Given the description of an element on the screen output the (x, y) to click on. 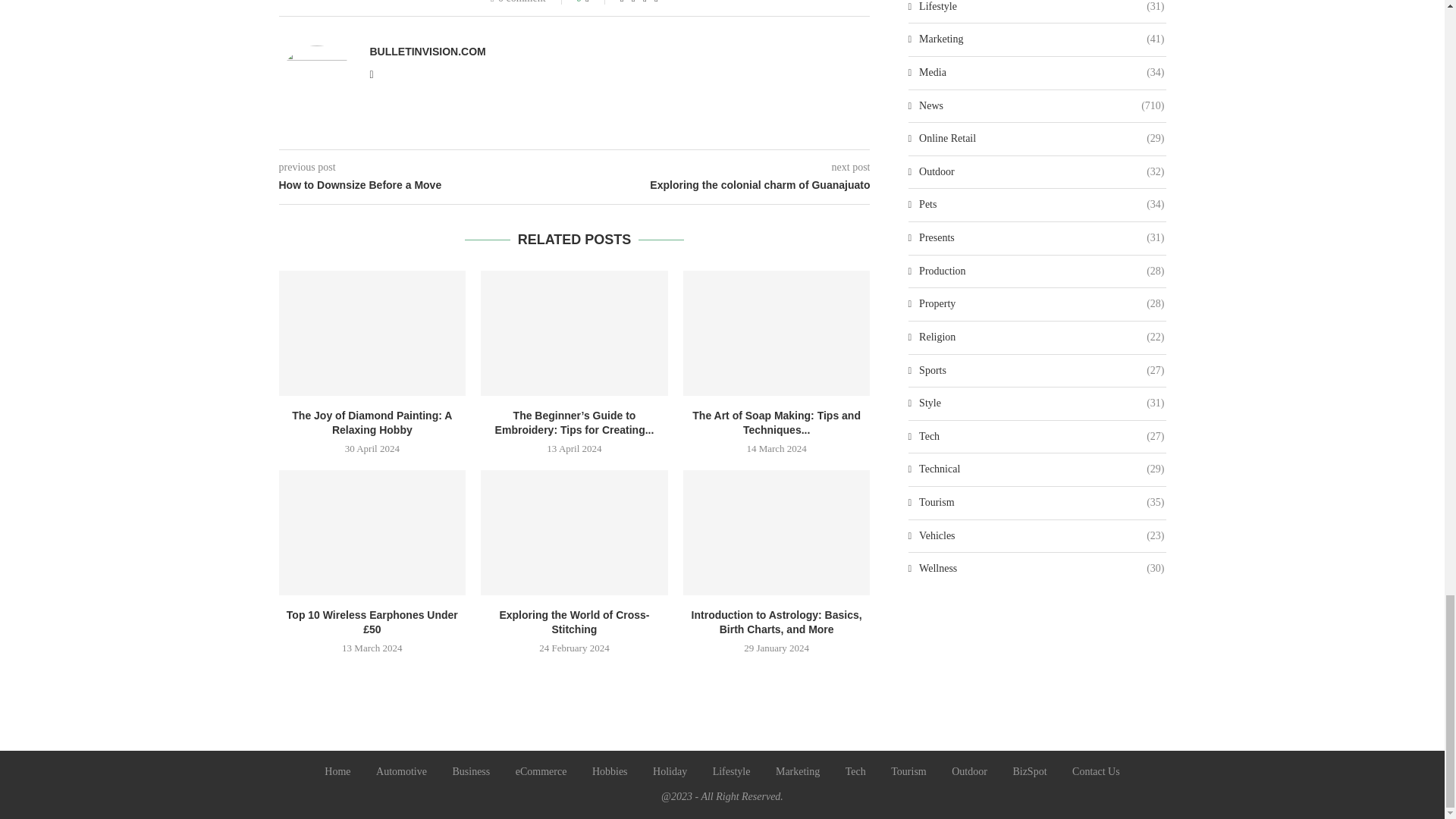
Author bulletinvision.com (427, 51)
Like (597, 2)
Introduction to Astrology: Basics, Birth Charts, and More (776, 532)
Exploring the World of Cross-Stitching (574, 532)
The Joy of Diamond Painting: A Relaxing Hobby (372, 332)
The Art of Soap Making: Tips and Techniques for Beginners (776, 332)
